Given the description of an element on the screen output the (x, y) to click on. 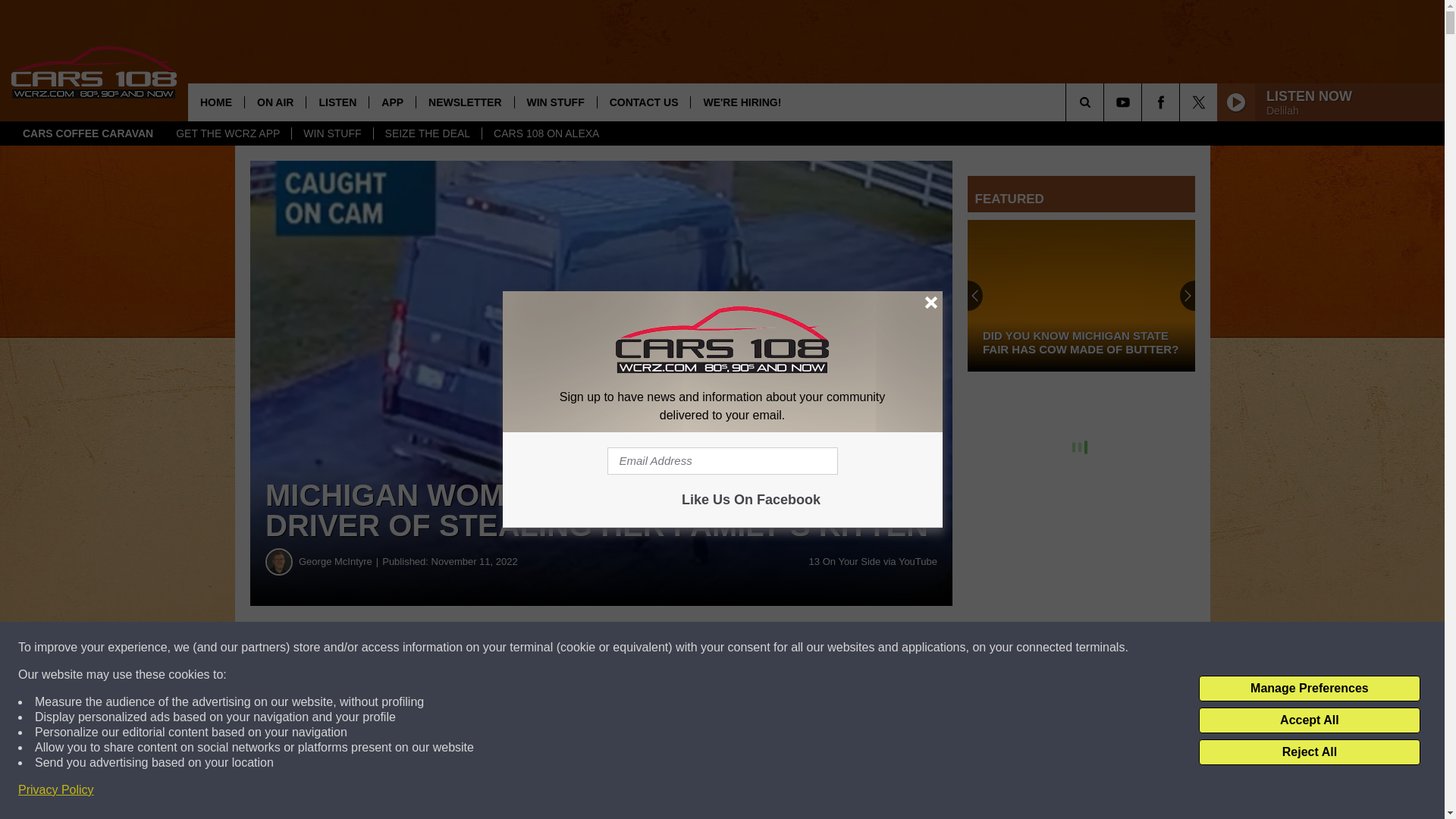
SEIZE THE DEAL (426, 133)
ON AIR (274, 102)
Email Address (722, 461)
Accept All (1309, 720)
APP (391, 102)
Privacy Policy (55, 789)
LISTEN (336, 102)
SEARCH (1106, 102)
Reject All (1309, 751)
CARS 108 ON ALEXA (545, 133)
GET THE WCRZ APP (227, 133)
NEWSLETTER (463, 102)
CONTACT US (643, 102)
WE'RE HIRING! (741, 102)
CARS COFFEE CARAVAN (87, 133)
